Given the description of an element on the screen output the (x, y) to click on. 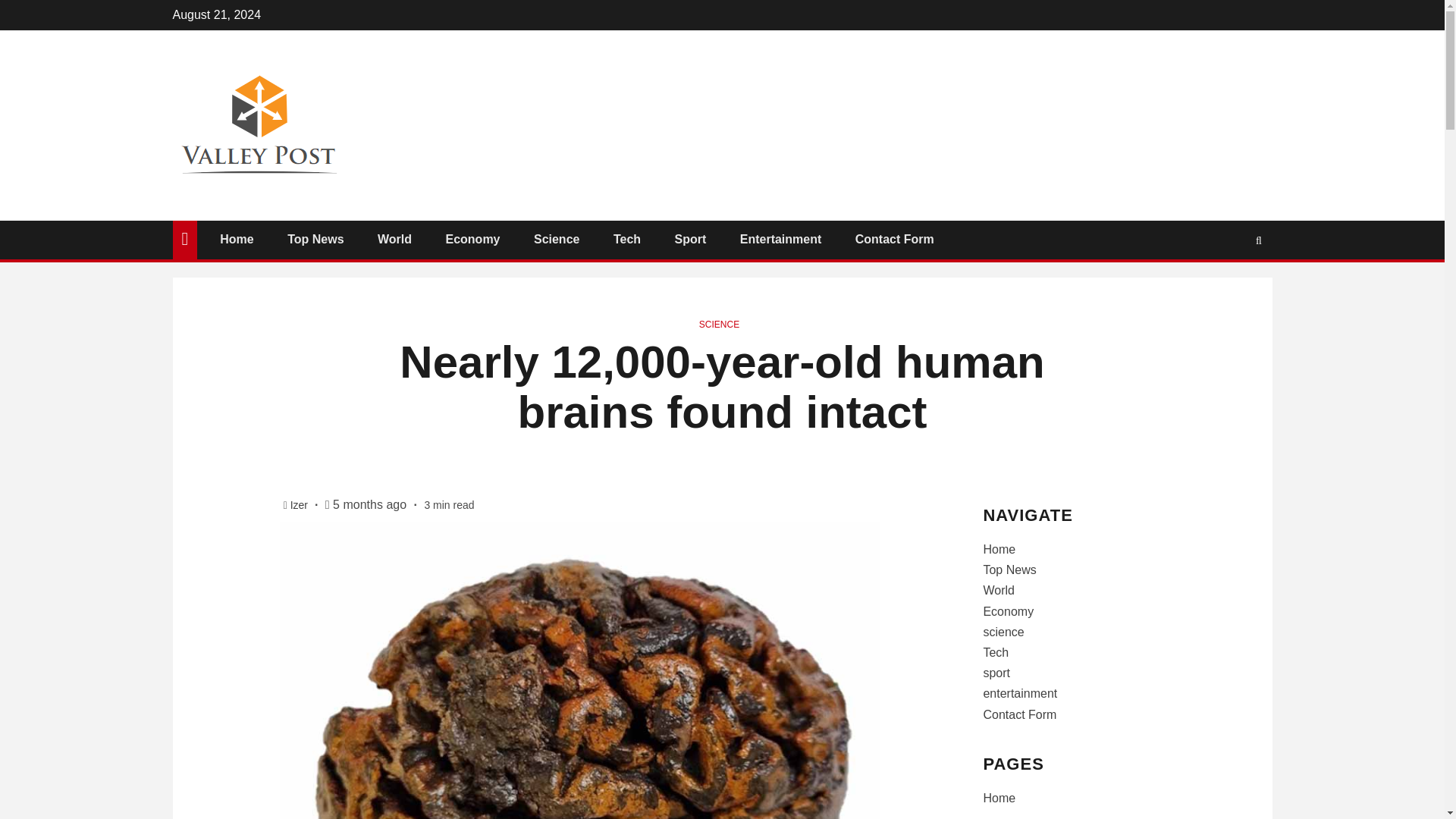
Search (1229, 285)
Top News (314, 238)
Sport (690, 238)
Entertainment (780, 238)
Contact Form (895, 238)
Home (998, 549)
SCIENCE (718, 324)
Tech (626, 238)
Home (236, 238)
Top News (1008, 569)
